Given the description of an element on the screen output the (x, y) to click on. 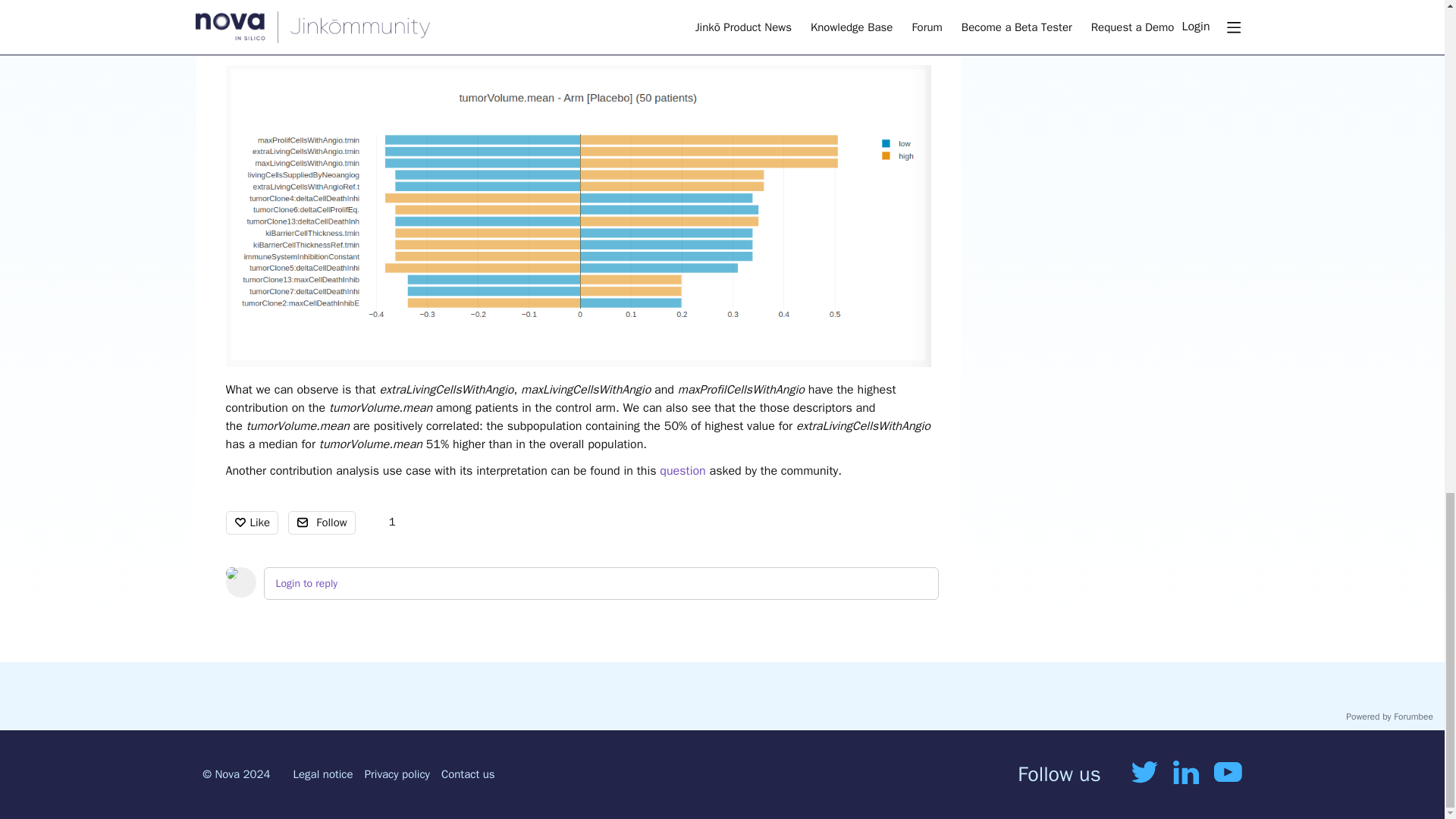
question (681, 470)
Login to reply (306, 583)
Like (252, 522)
NOVA Discovery on Twitter (1144, 774)
NOVA Discovery on LinkedIn (1185, 774)
Powered by Forumbee (1388, 716)
1 (384, 521)
Follow (321, 522)
NOVA Discovery on YouTube (1227, 774)
